Given the description of an element on the screen output the (x, y) to click on. 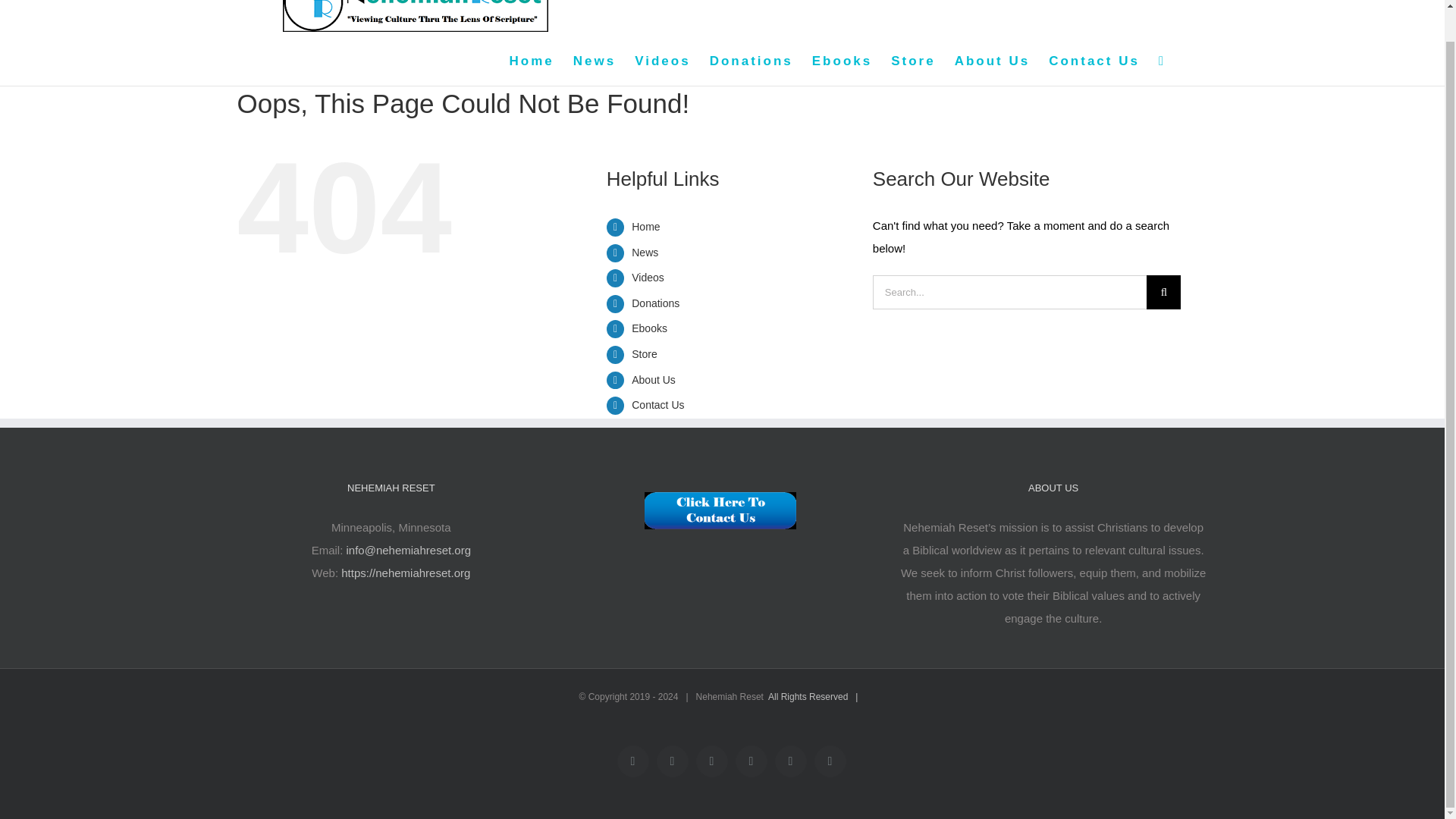
Ebooks (648, 328)
Videos (662, 60)
About Us (653, 379)
Donations (655, 303)
Home (645, 226)
News (644, 252)
Tumblr (829, 761)
Ebooks (842, 60)
Home (531, 60)
Tumblr (829, 761)
